Given the description of an element on the screen output the (x, y) to click on. 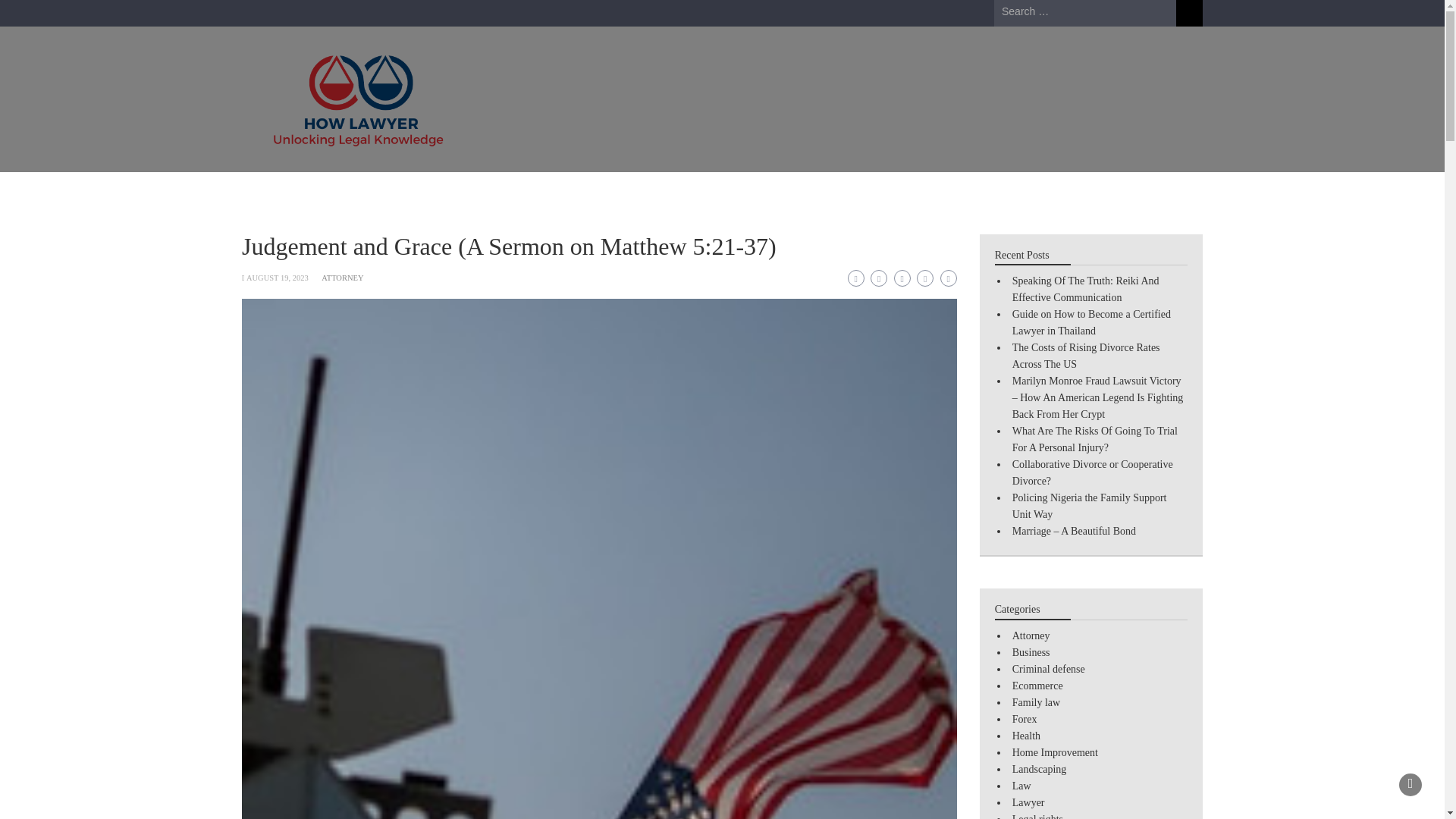
Policing Nigeria the Family Support Unit Way (1089, 506)
What Are The Risks Of Going To Trial For A Personal Injury? (1094, 439)
Speaking Of The Truth: Reiki And Effective Communication (1084, 289)
ATTORNEY (341, 277)
Home (273, 190)
Search (1189, 13)
Family law (602, 190)
The Costs of Rising Divorce Rates Across The US (1085, 356)
Search for: (1085, 11)
Collaborative Divorce or Cooperative Divorce? (1092, 472)
